Given the description of an element on the screen output the (x, y) to click on. 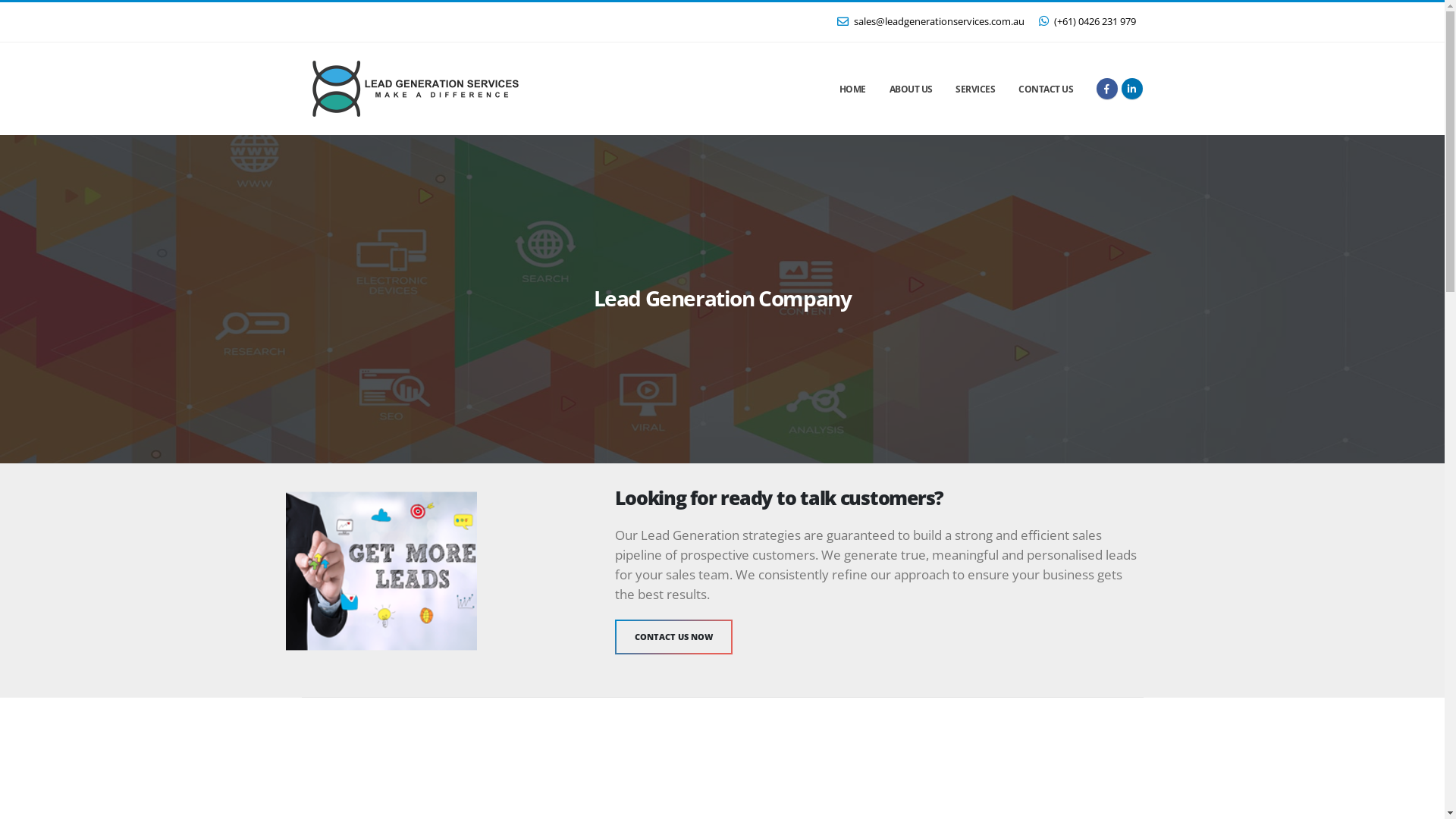
CONTACT US NOW Element type: text (672, 636)
Facebook Element type: hover (1106, 87)
CONTACT US Element type: text (1045, 89)
Linkedin Element type: hover (1131, 87)
ABOUT US Element type: text (910, 89)
sales@leadgenerationservices.com.au Element type: text (930, 21)
(+61) 0426 231 979 Element type: text (1086, 21)
HOME Element type: text (852, 89)
SERVICES Element type: text (975, 89)
